Given the description of an element on the screen output the (x, y) to click on. 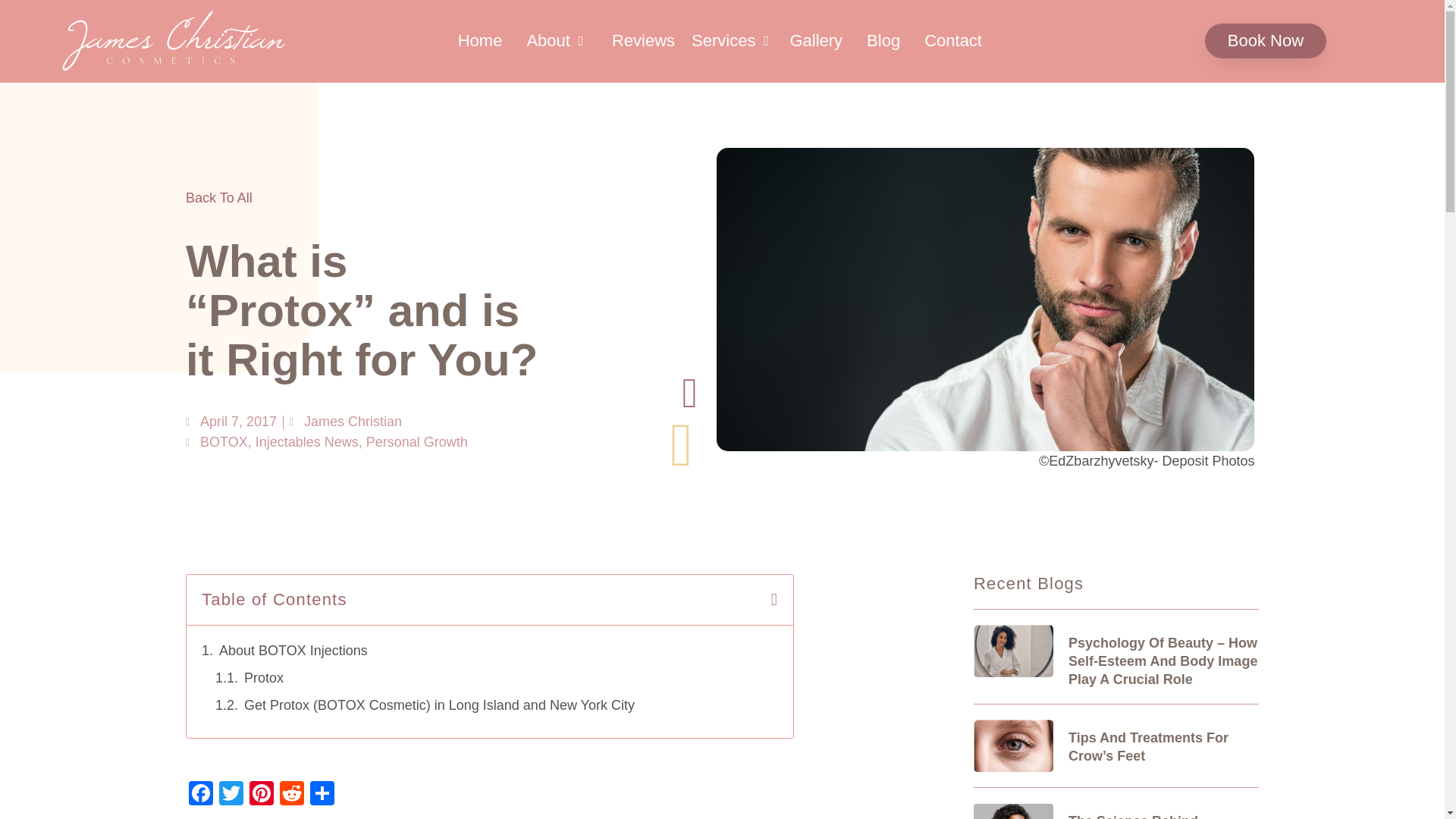
Reddit (291, 795)
Reviews (643, 40)
Facebook (200, 795)
Twitter (230, 795)
Services (723, 40)
Home (480, 40)
About (547, 40)
Pinterest (261, 795)
